Given the description of an element on the screen output the (x, y) to click on. 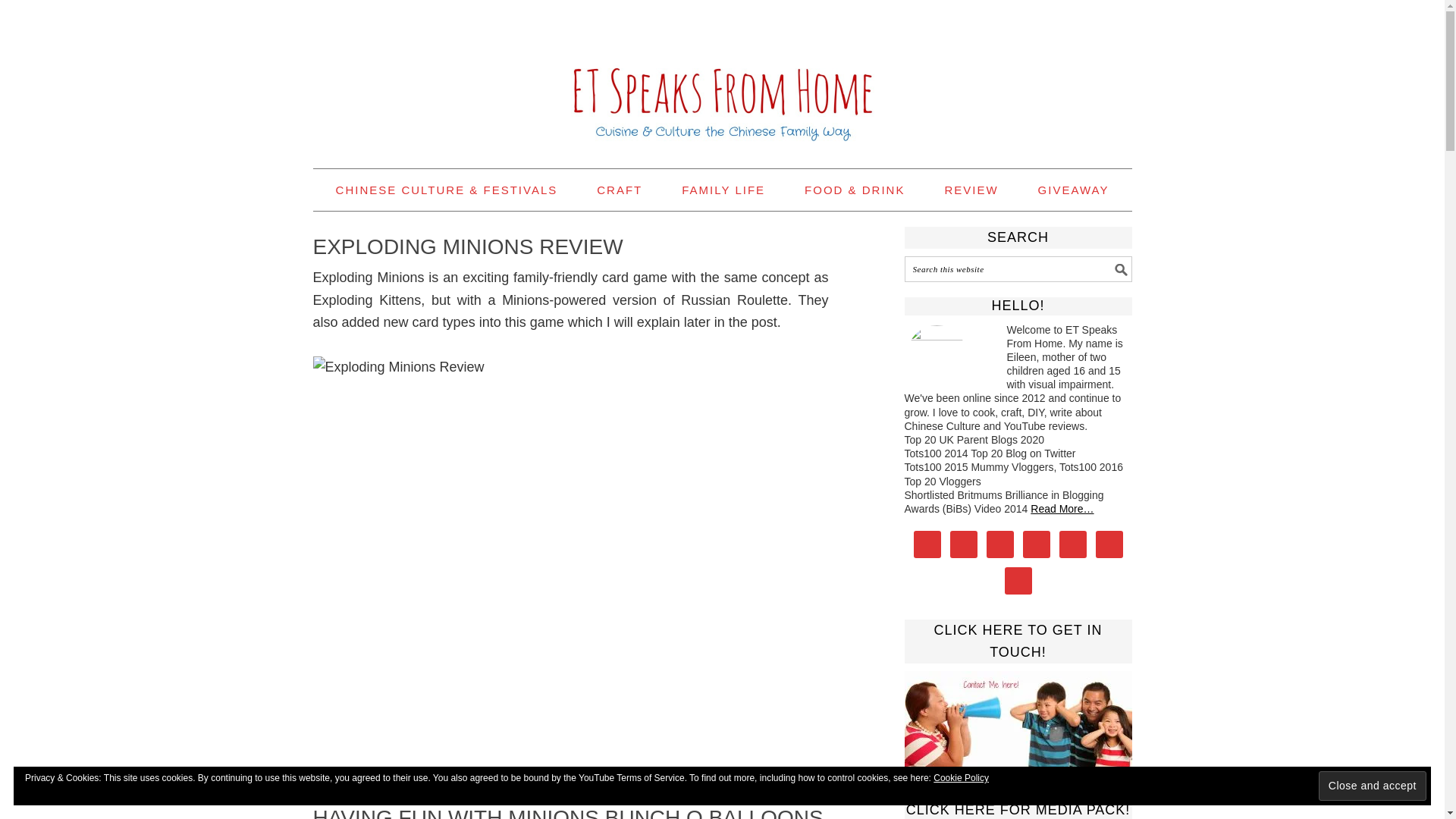
FAMILY LIFE (723, 189)
ET SPEAKS FROM HOME (722, 77)
Click here to get in touch! (1017, 718)
Close and accept (1372, 785)
CRAFT (619, 189)
REVIEW (970, 189)
